Given the description of an element on the screen output the (x, y) to click on. 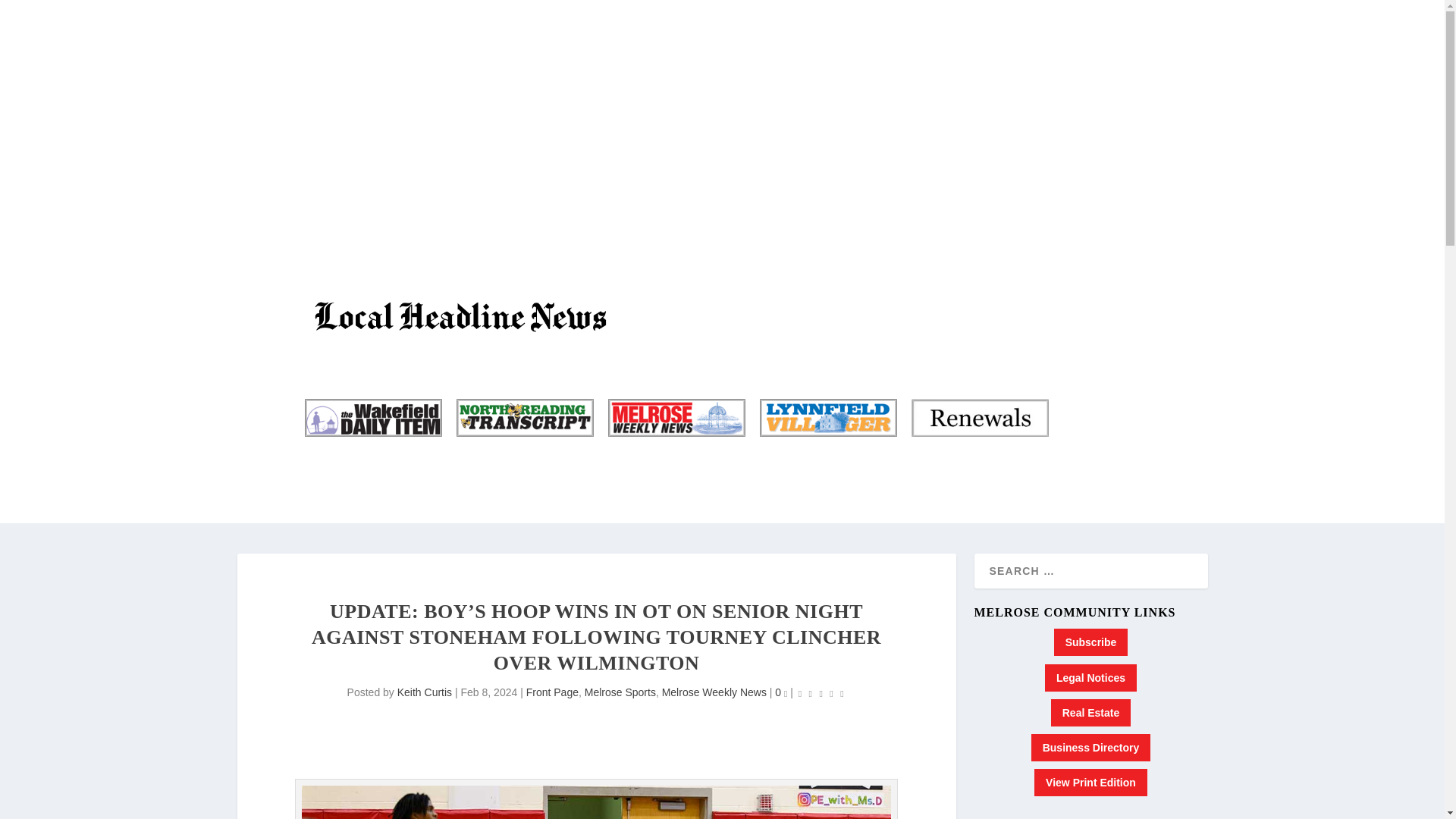
Renewal (978, 417)
0 (780, 692)
Business Directory (1090, 103)
Wakefield (371, 417)
Rating: 0.00 (820, 692)
Melrose (675, 417)
Search (31, 13)
Melrose Weekly News (714, 692)
Login (1118, 112)
Keith Curtis (424, 692)
